Given the description of an element on the screen output the (x, y) to click on. 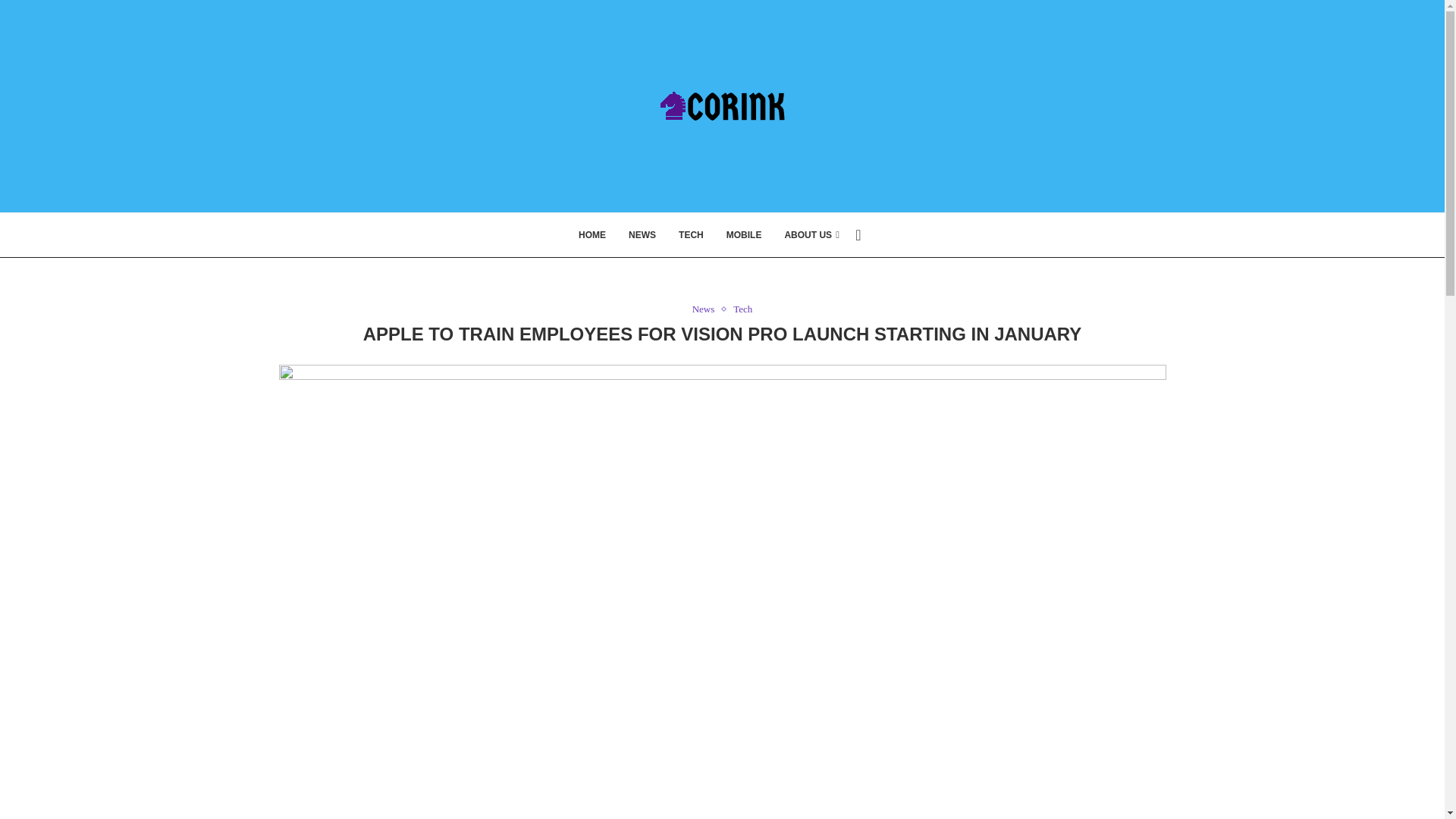
ABOUT US (811, 234)
Tech (742, 309)
News (707, 309)
